Given the description of an element on the screen output the (x, y) to click on. 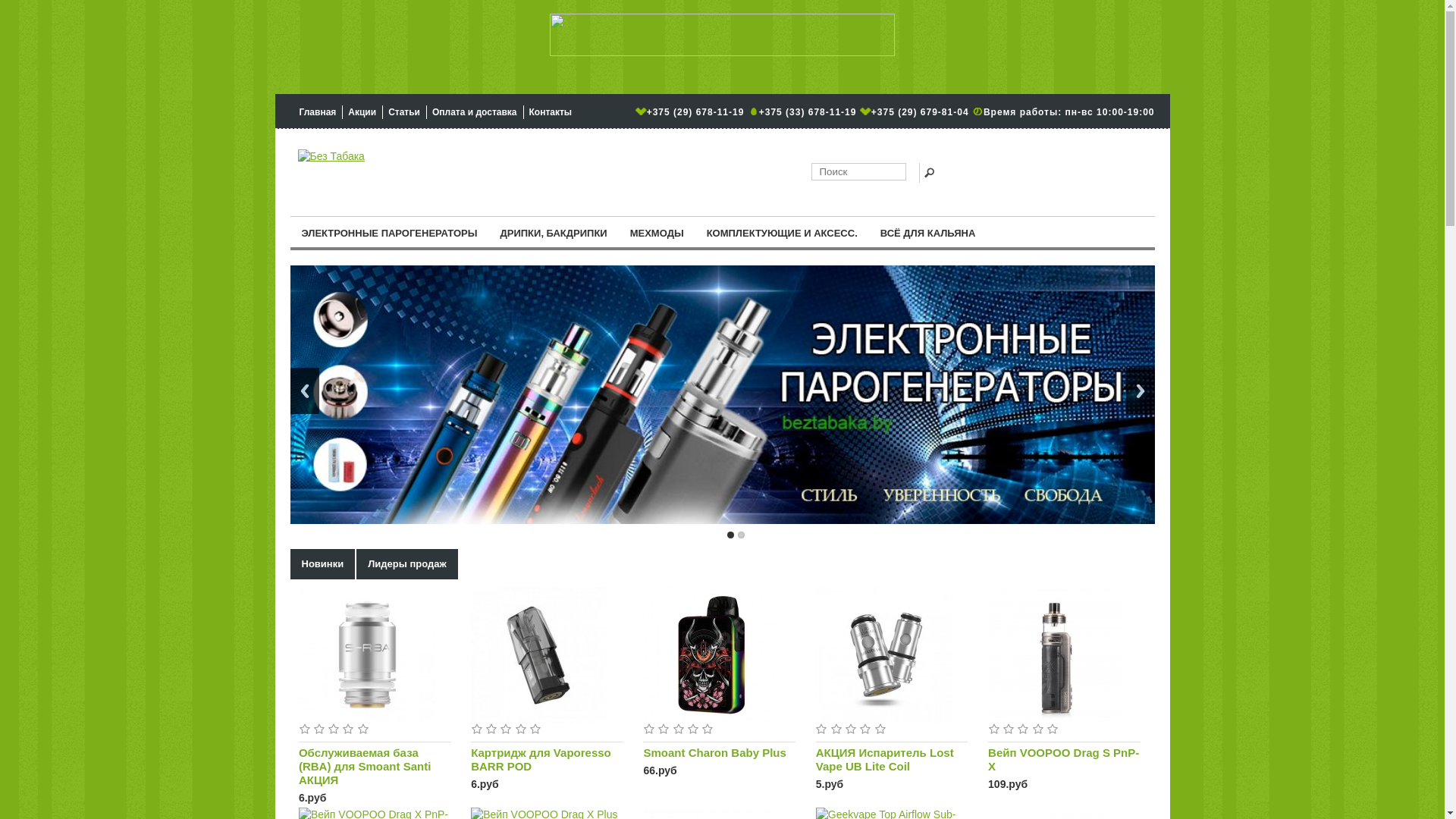
2 Element type: text (740, 534)
Previous Element type: text (303, 390)
1 Element type: text (729, 534)
Smoant Charon Baby Plus Element type: text (719, 752)
Next Element type: text (1139, 390)
